Given the description of an element on the screen output the (x, y) to click on. 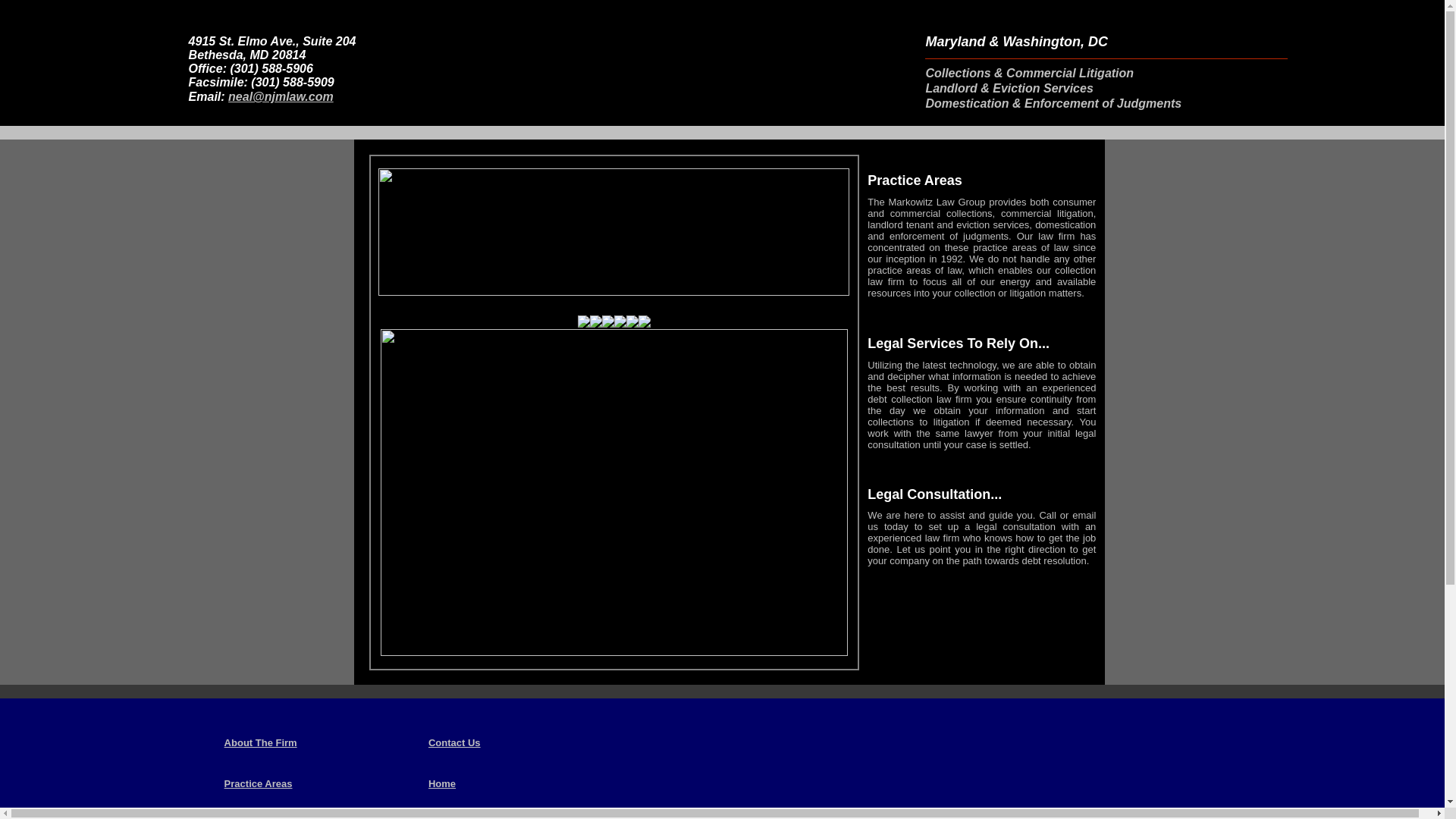
About The Firm (260, 741)
Practice Areas (258, 782)
Home (441, 782)
Inquiry Form (253, 817)
Contact Us (454, 741)
